Given the description of an element on the screen output the (x, y) to click on. 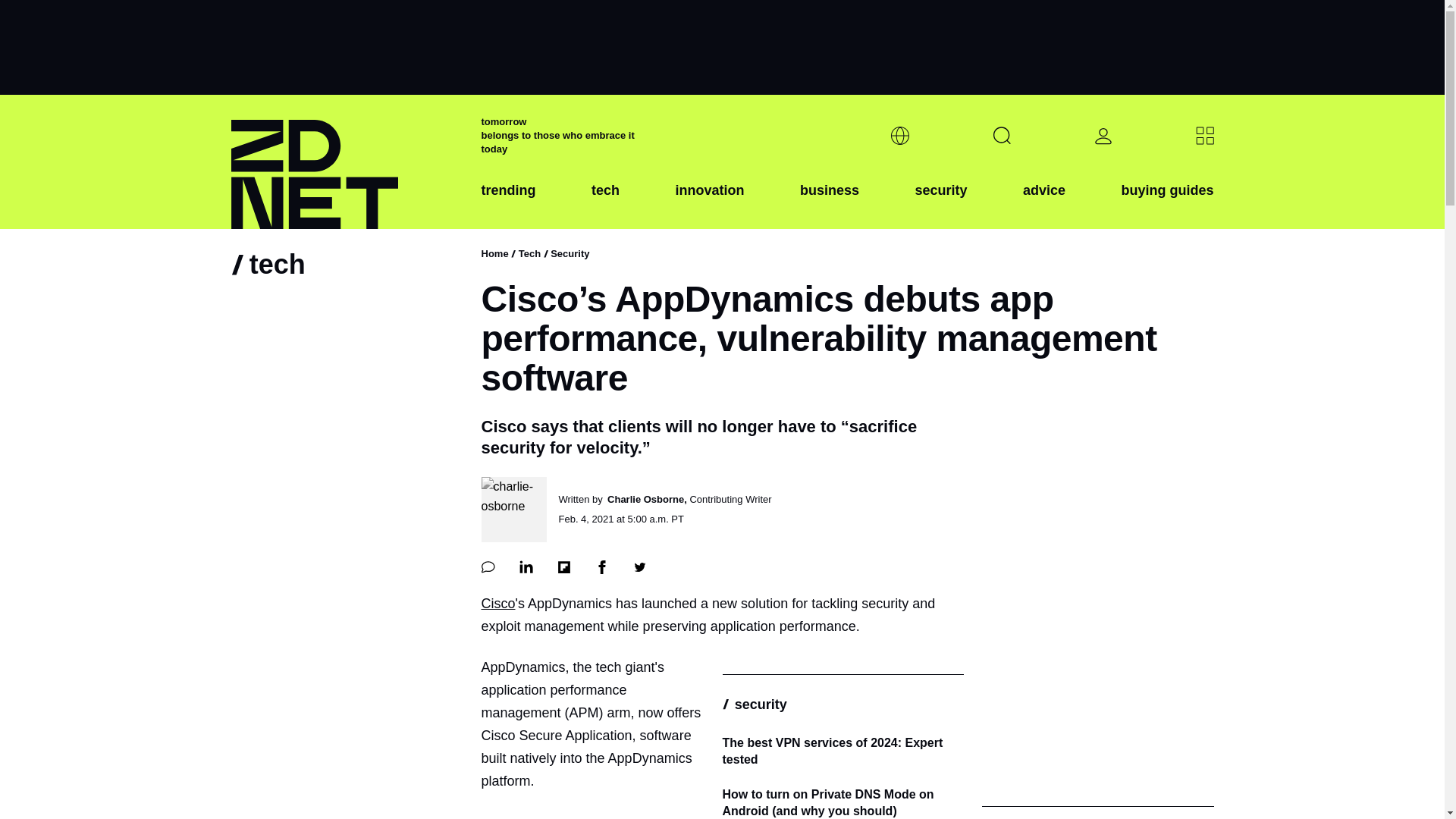
trending (507, 202)
ZDNET (346, 162)
